Given the description of an element on the screen output the (x, y) to click on. 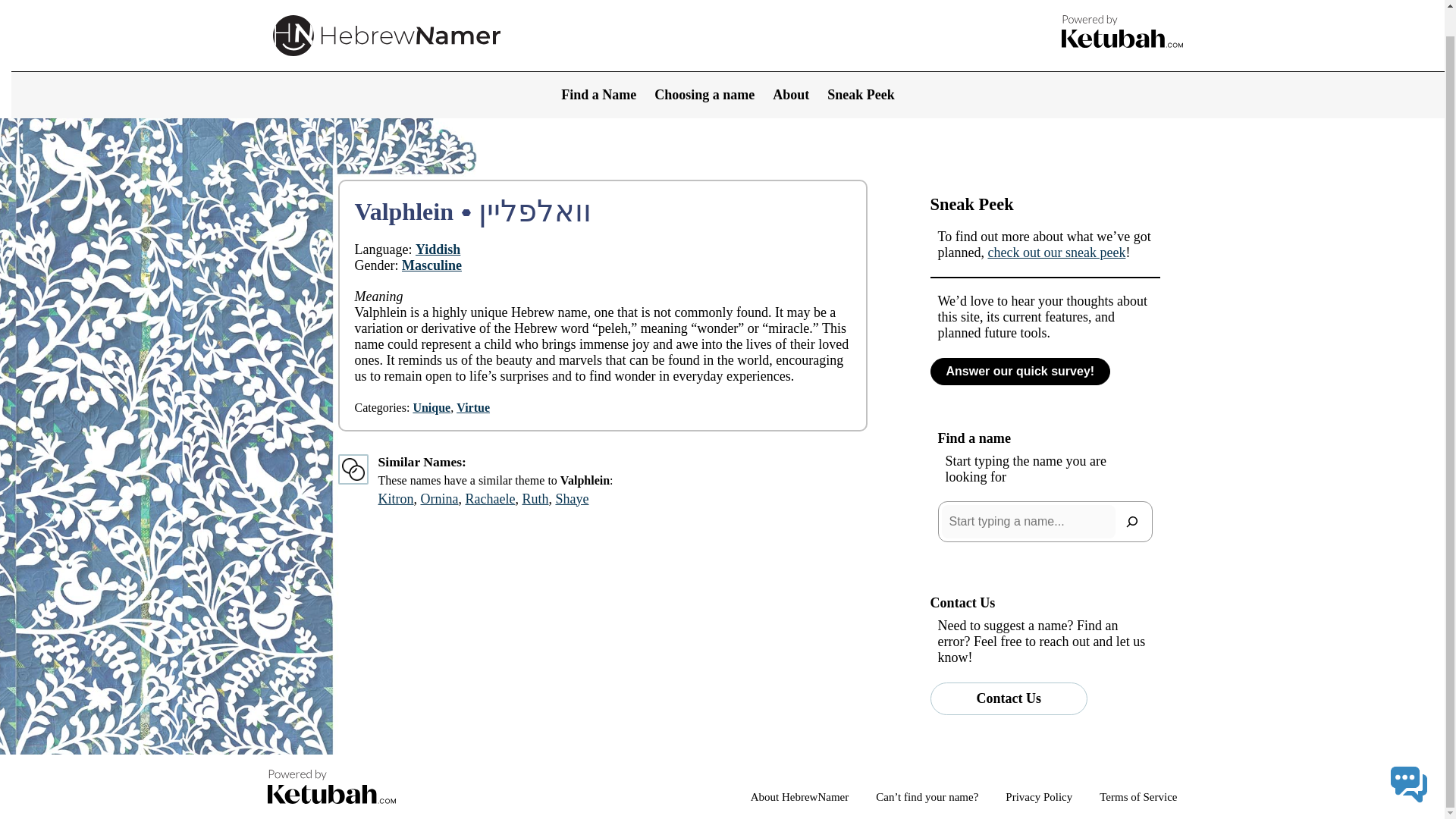
check out our sneak peek (1056, 252)
Unique (430, 407)
Kitron (395, 498)
Terms of Service (1137, 797)
Ruth (534, 498)
About (791, 68)
Shaye (571, 498)
Find a Name (598, 68)
Yiddish (437, 249)
About HebrewNamer (799, 797)
Virtue (473, 407)
Contact Us (1008, 698)
Privacy Policy (1038, 797)
Sneak Peek (861, 68)
Masculine (431, 264)
